Given the description of an element on the screen output the (x, y) to click on. 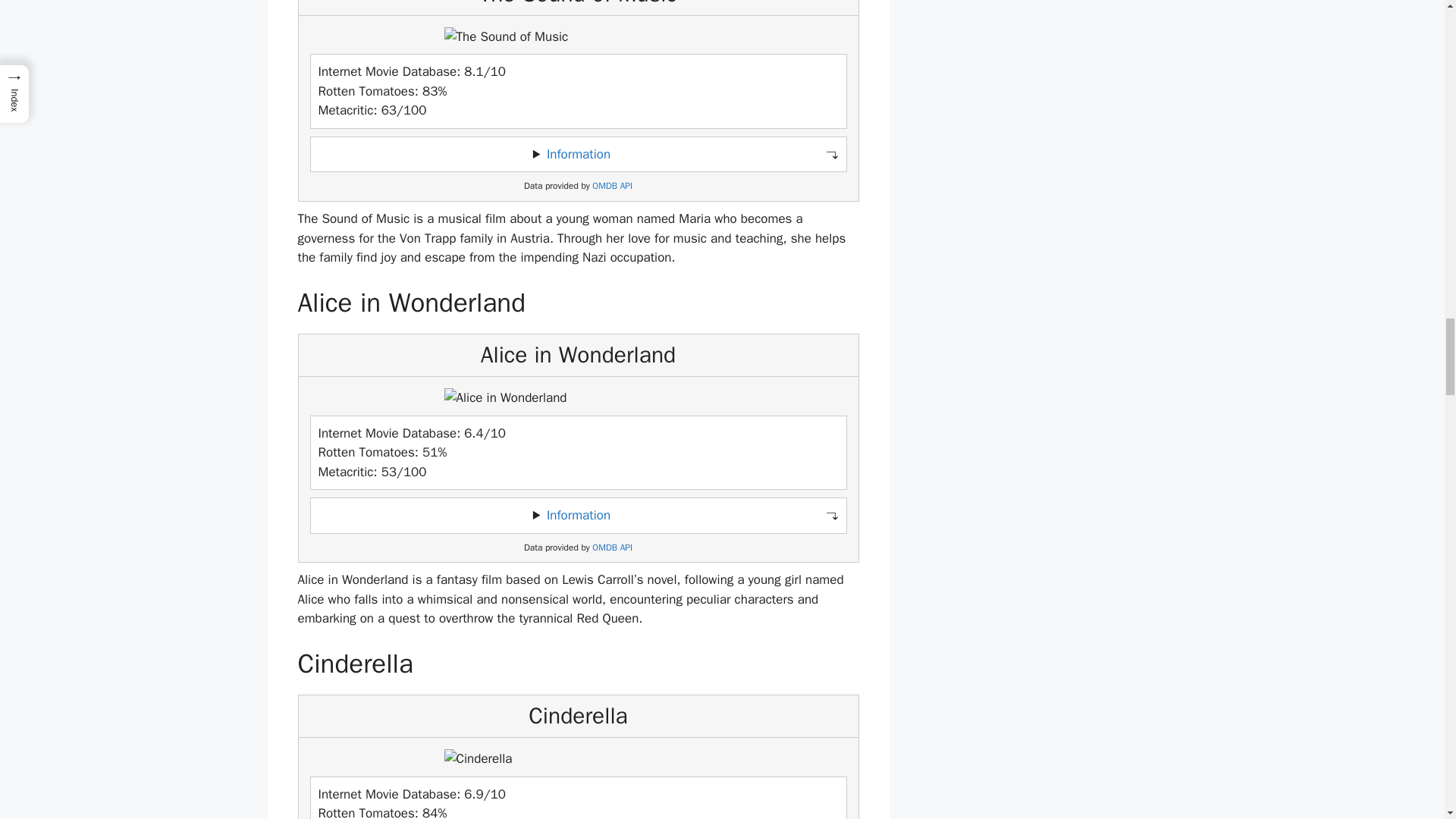
Information (578, 154)
Information (578, 514)
OMDB API (611, 185)
OMDB API (611, 547)
